Given the description of an element on the screen output the (x, y) to click on. 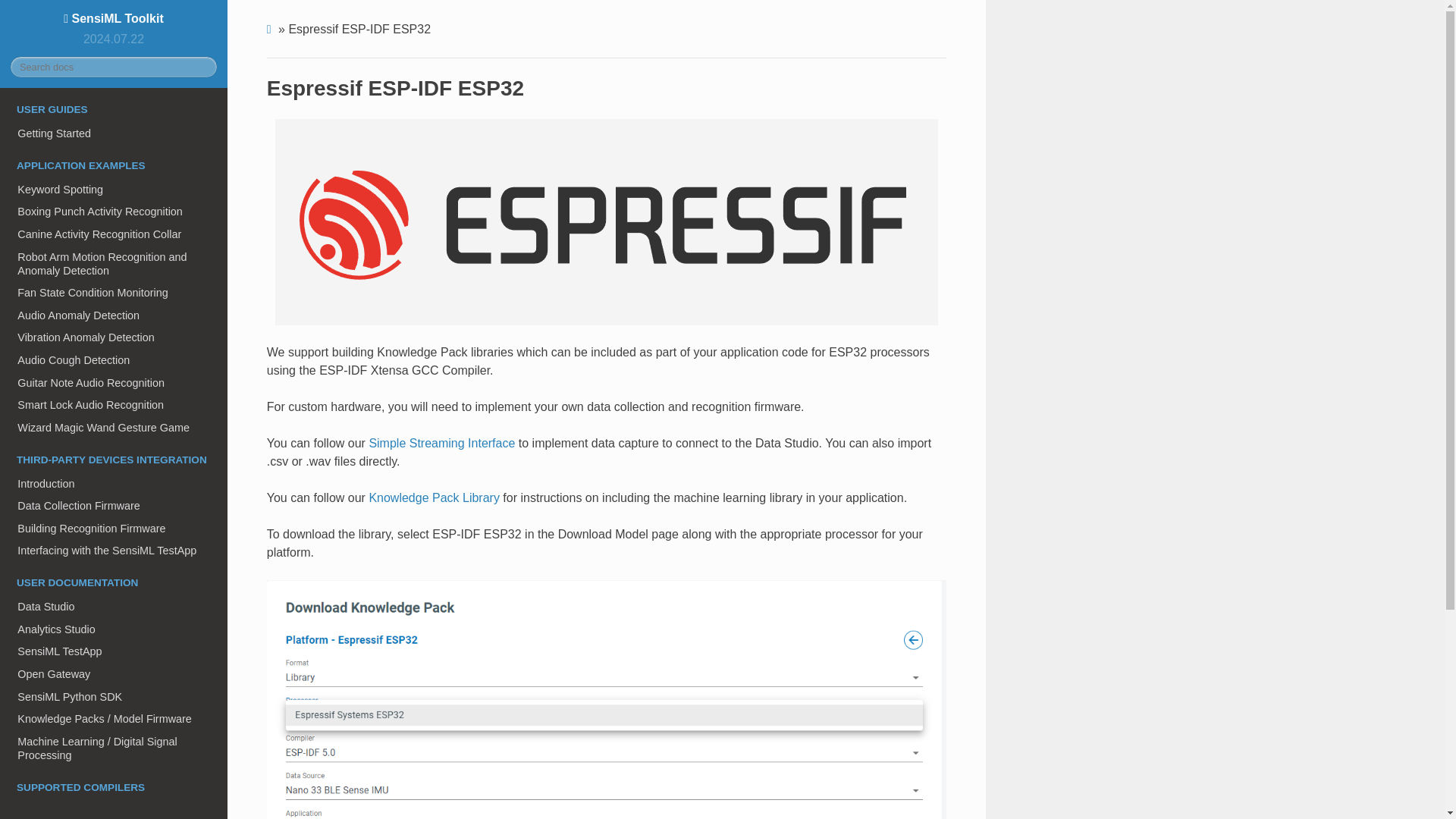
Getting Started (113, 133)
Keyword Spotting (113, 189)
SensiML Python SDK (113, 696)
Building Recognition Firmware (113, 527)
Analytics Studio (113, 629)
Robot Arm Motion Recognition and Anomaly Detection (113, 263)
Data Studio (113, 606)
Audio Anomaly Detection (113, 314)
Interfacing with the SensiML TestApp (113, 550)
Open Gateway (113, 673)
Boxing Punch Activity Recognition (113, 210)
Introduction (113, 483)
Guitar Note Audio Recognition (113, 382)
Canine Activity Recognition Collar (113, 233)
Vibration Anomaly Detection (113, 337)
